Given the description of an element on the screen output the (x, y) to click on. 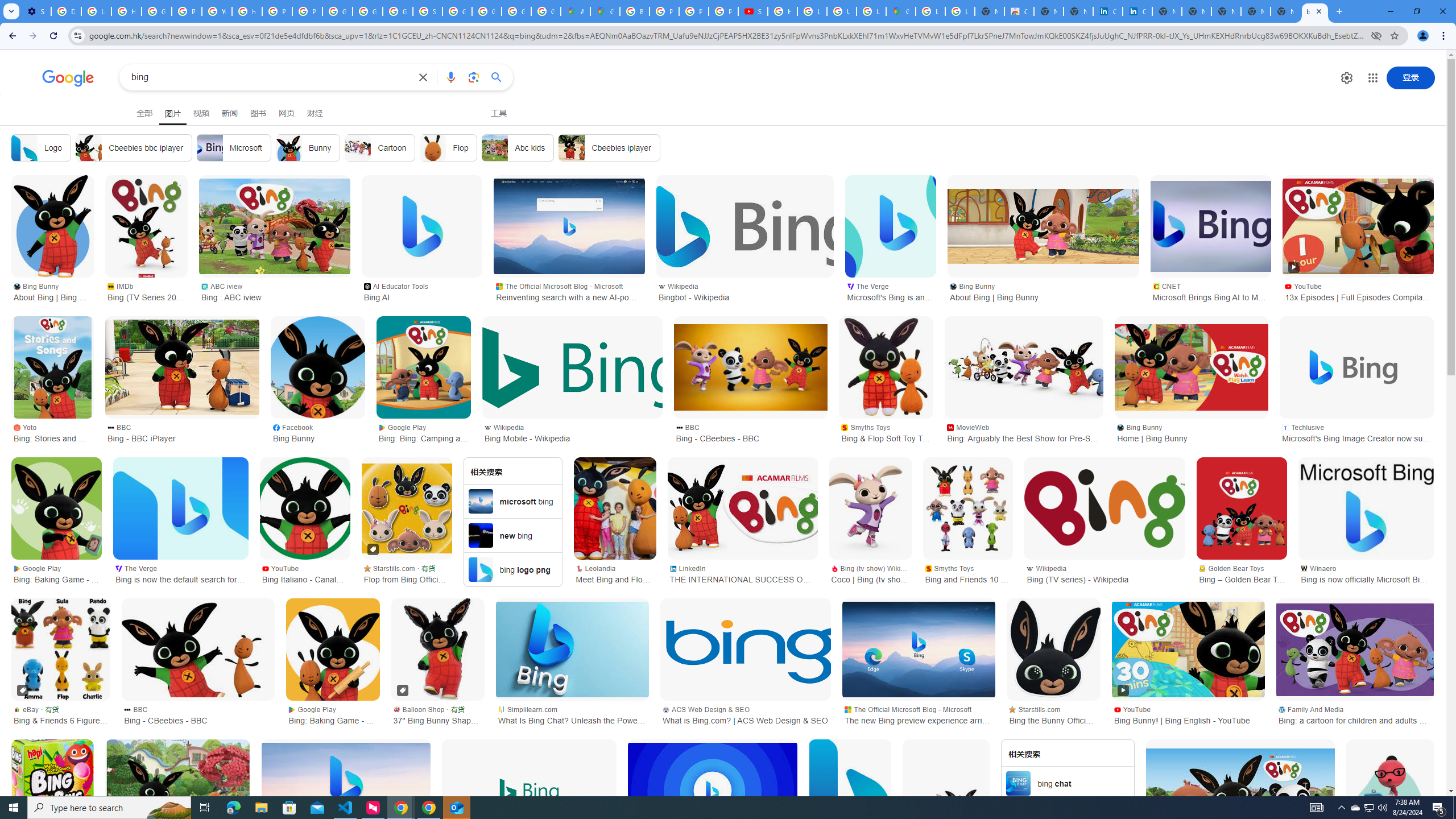
Bing: Baking Game - Apps on Google Play (56, 508)
Privacy Help Center - Policies Help (185, 11)
Wikipedia Bing (TV series) - Wikipedia (1105, 573)
Bing: Stories and Songs (52, 367)
Bing Mobile - Wikipedia (571, 367)
new bing (512, 535)
Bing - CBeebies - BBC (198, 649)
